Given the description of an element on the screen output the (x, y) to click on. 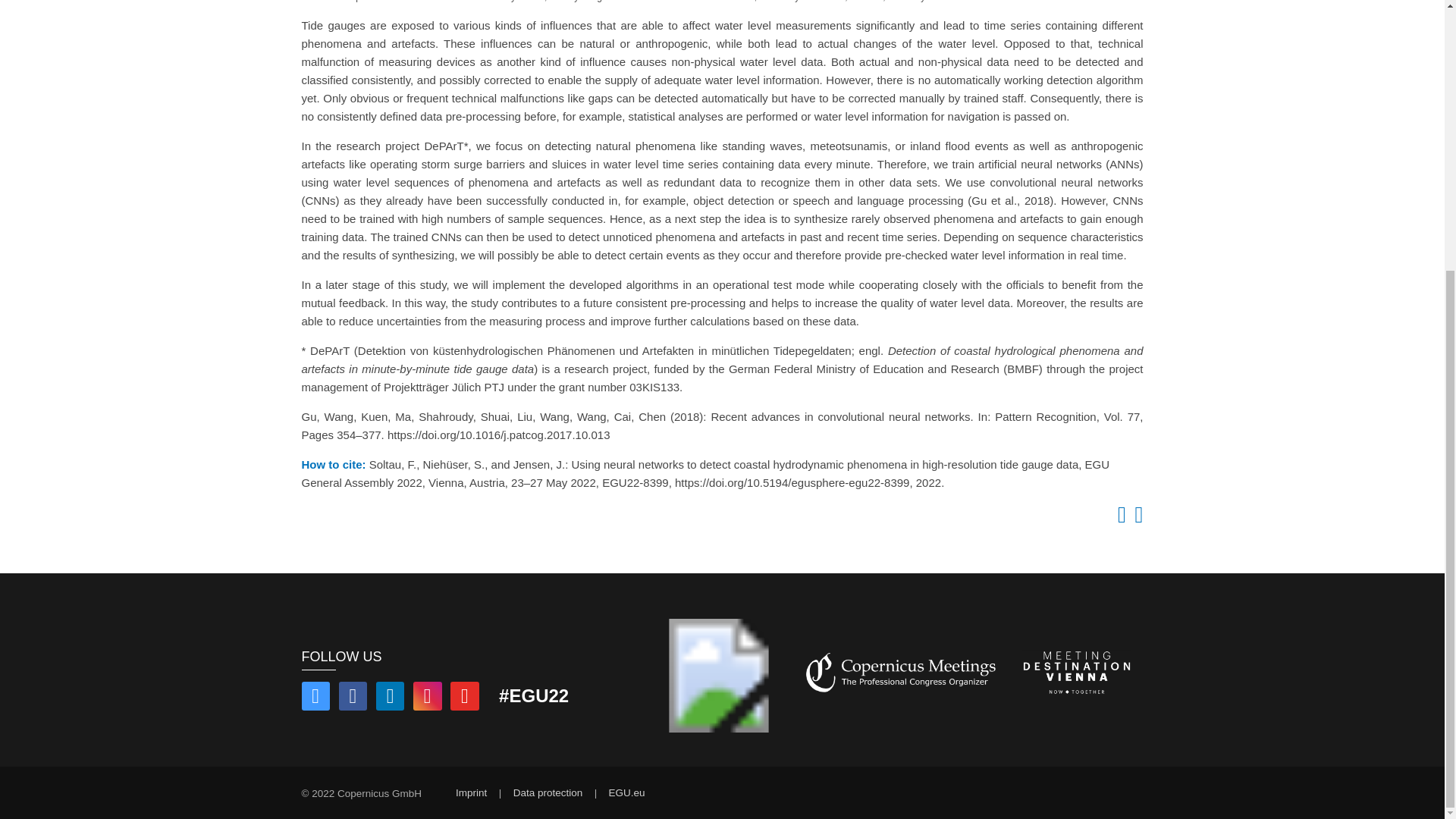
Find us on Instagram (427, 698)
Find us on LinkedIn (389, 698)
Follow us on Facebook (353, 698)
Copy to clipboard (1118, 517)
Open QR code linking to abstract URL (1135, 517)
Find us on YouTube (464, 698)
Follow us on Twitter (315, 698)
